Given the description of an element on the screen output the (x, y) to click on. 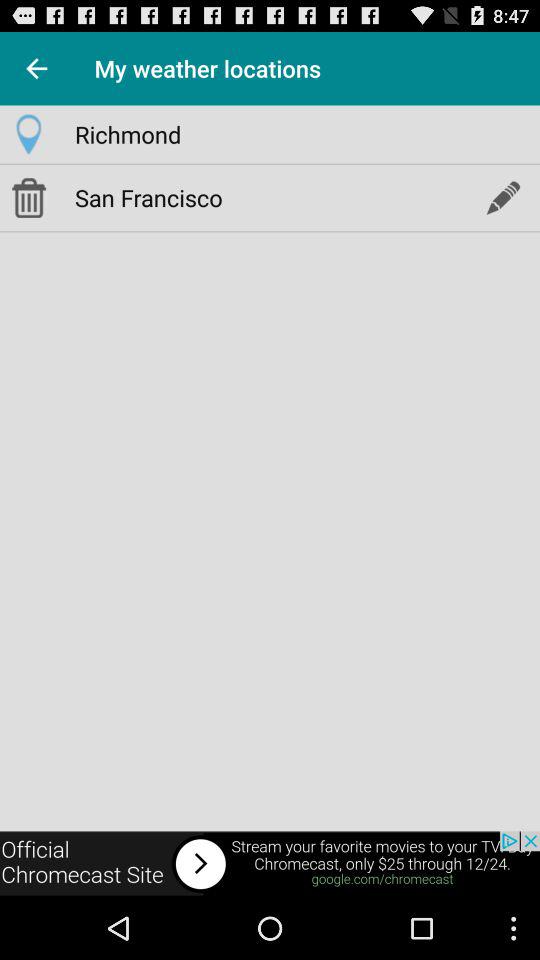
go to previous page (36, 68)
